Given the description of an element on the screen output the (x, y) to click on. 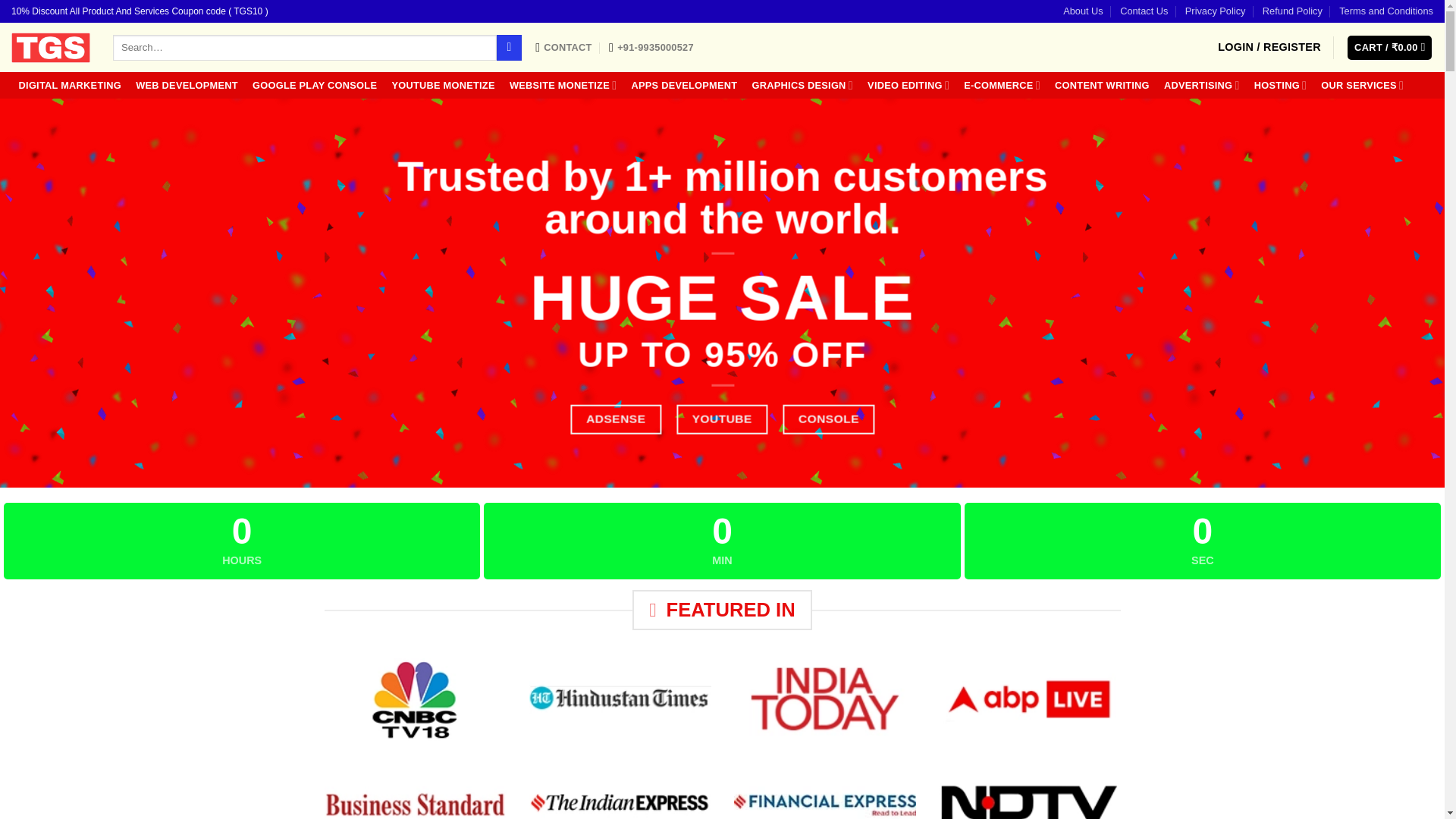
WEB DEVELOPMENT (187, 85)
VIDEO EDITING (908, 85)
DIGITAL MARKETING (70, 85)
Cart (1389, 48)
YOUTUBE MONETIZE (443, 85)
E-COMMERCE (1002, 85)
Refund Policy (1292, 11)
About Us (1082, 11)
Terms and Conditions (1385, 11)
GOOGLE PLAY CONSOLE (314, 85)
